Given the description of an element on the screen output the (x, y) to click on. 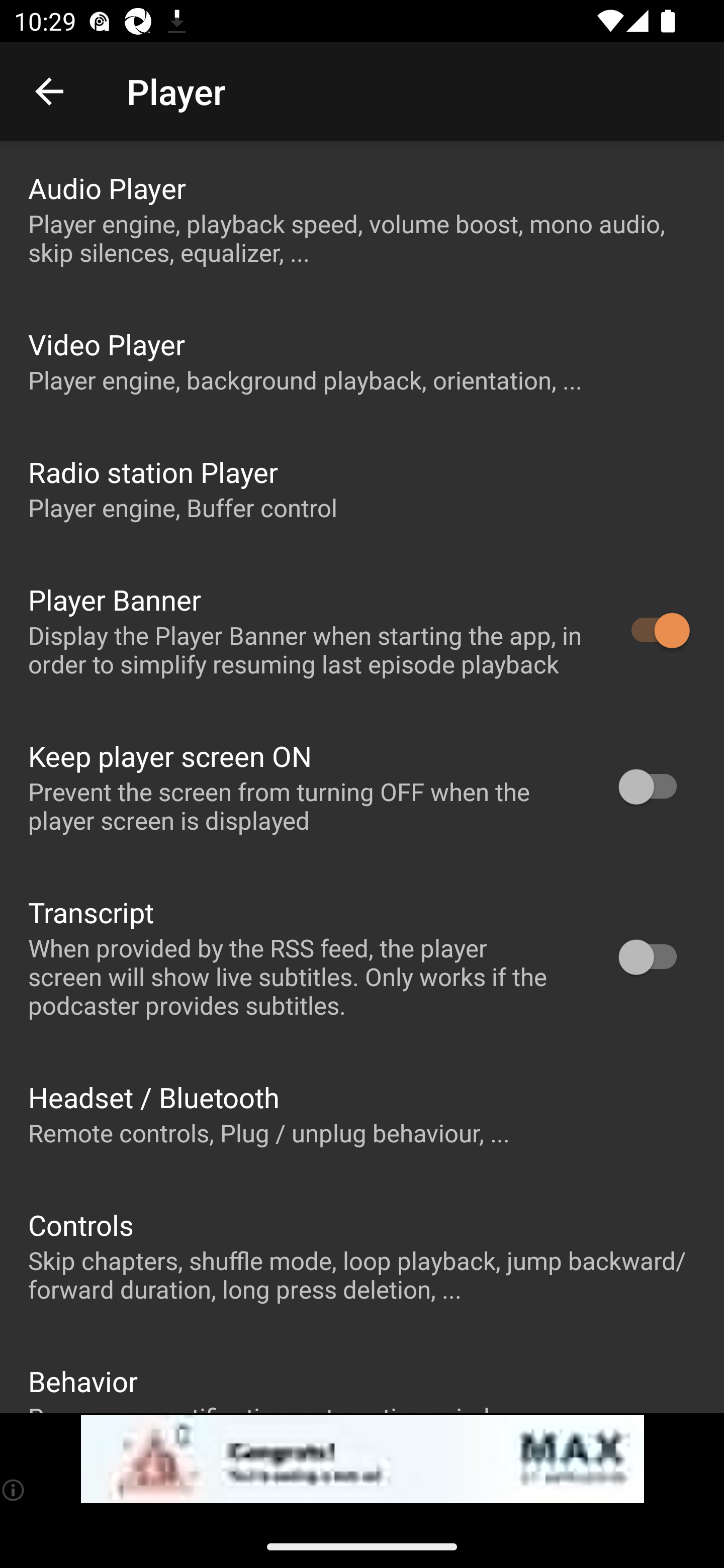
Navigate up (49, 91)
Radio station Player Player engine, Buffer control (362, 487)
app-monetization (362, 1459)
(i) (14, 1489)
